Given the description of an element on the screen output the (x, y) to click on. 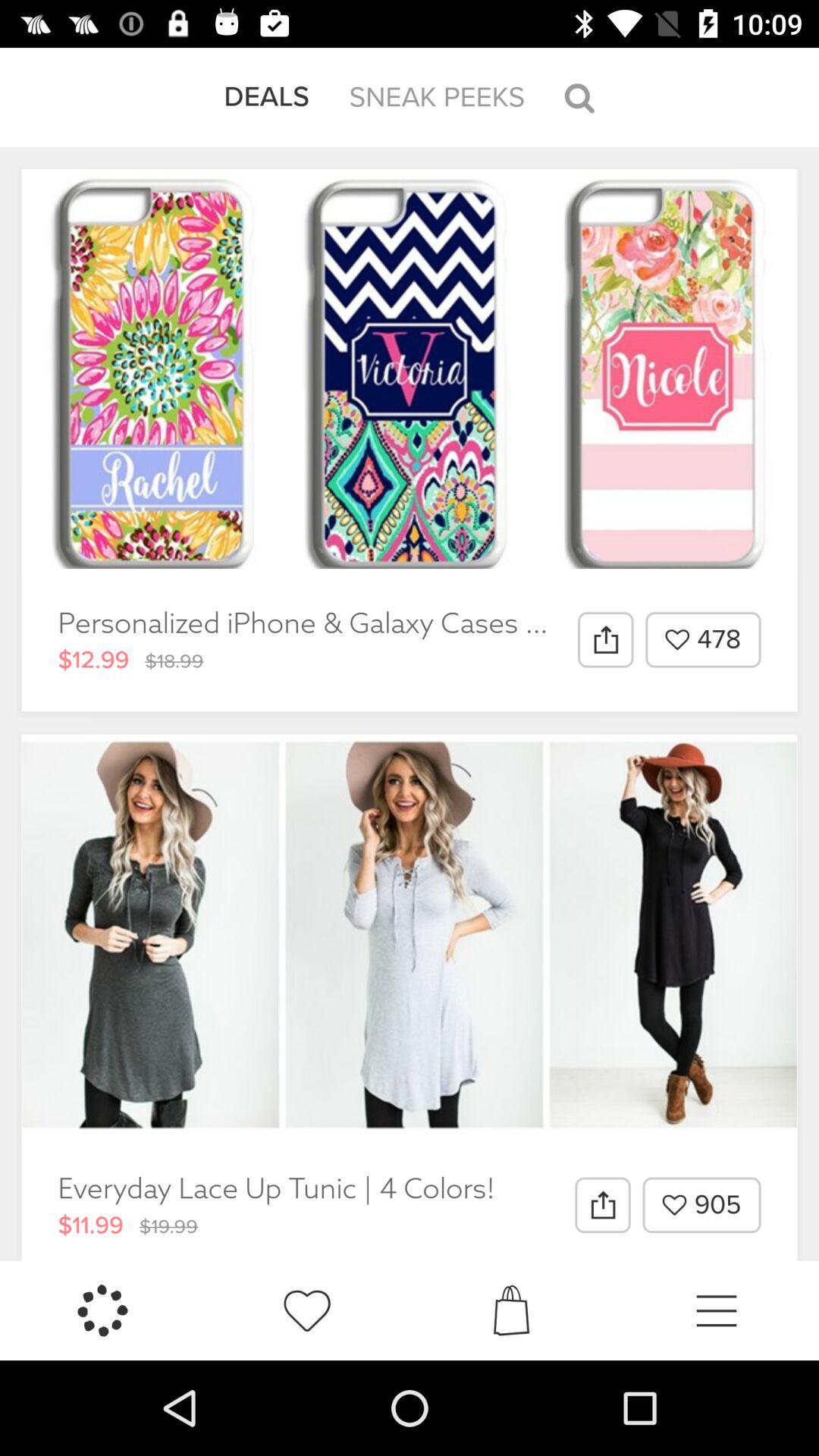
flip to 905 item (701, 1205)
